Given the description of an element on the screen output the (x, y) to click on. 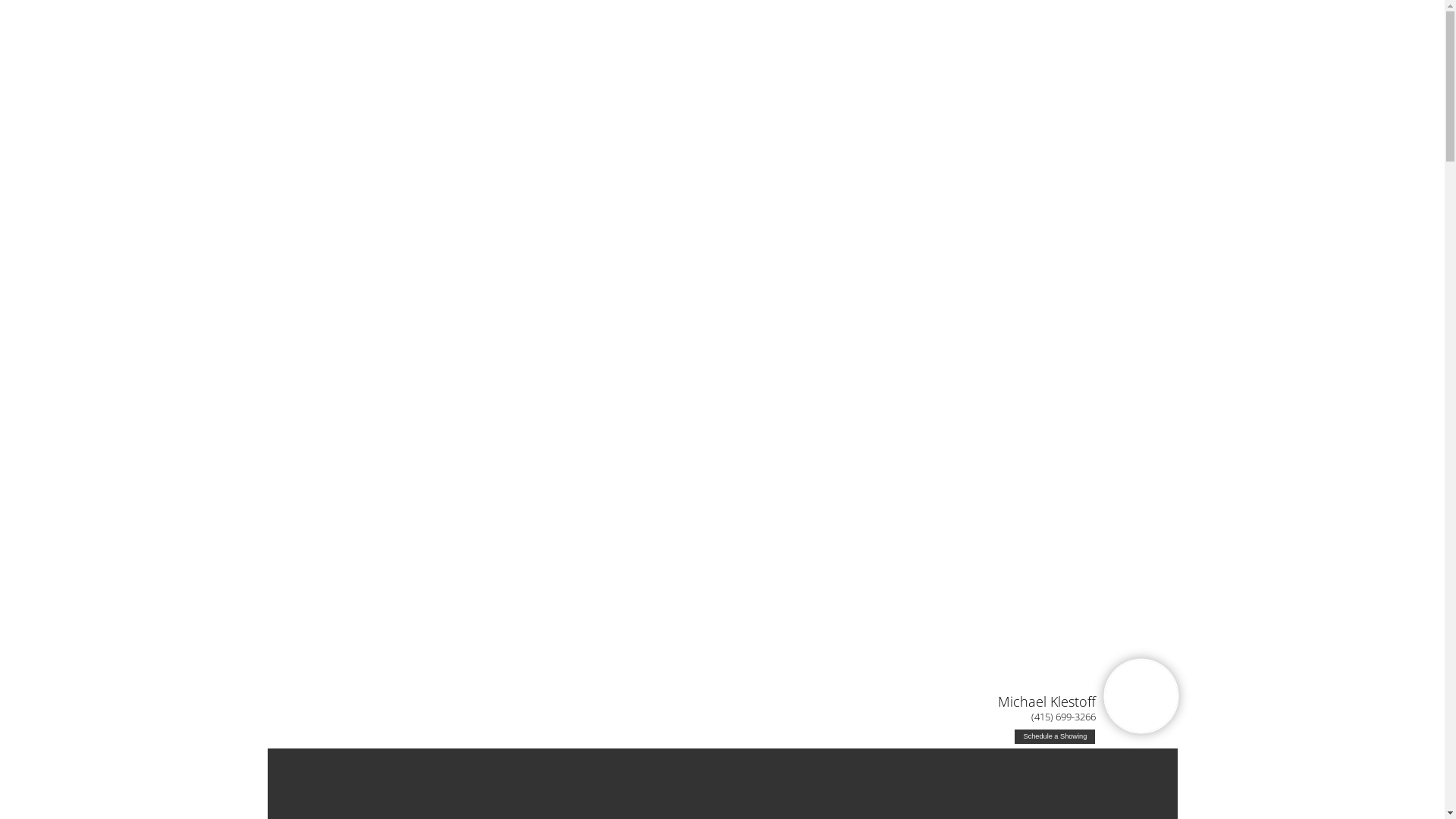
Michael Klestoff Element type: text (1046, 700)
Schedule a Showing Element type: text (1054, 736)
